Given the description of an element on the screen output the (x, y) to click on. 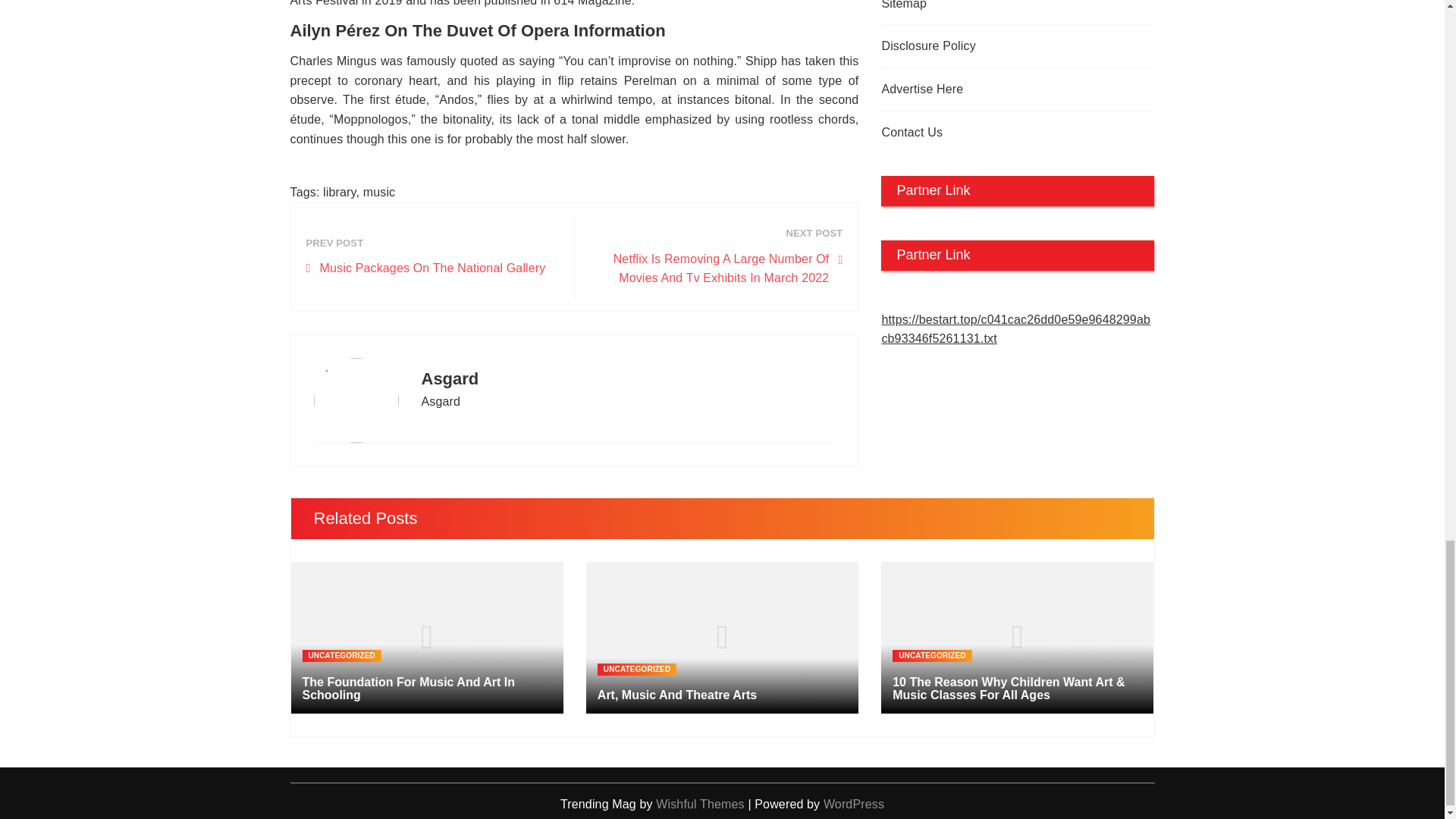
library (339, 192)
music (379, 192)
Music Packages On The National Gallery (425, 268)
